Given the description of an element on the screen output the (x, y) to click on. 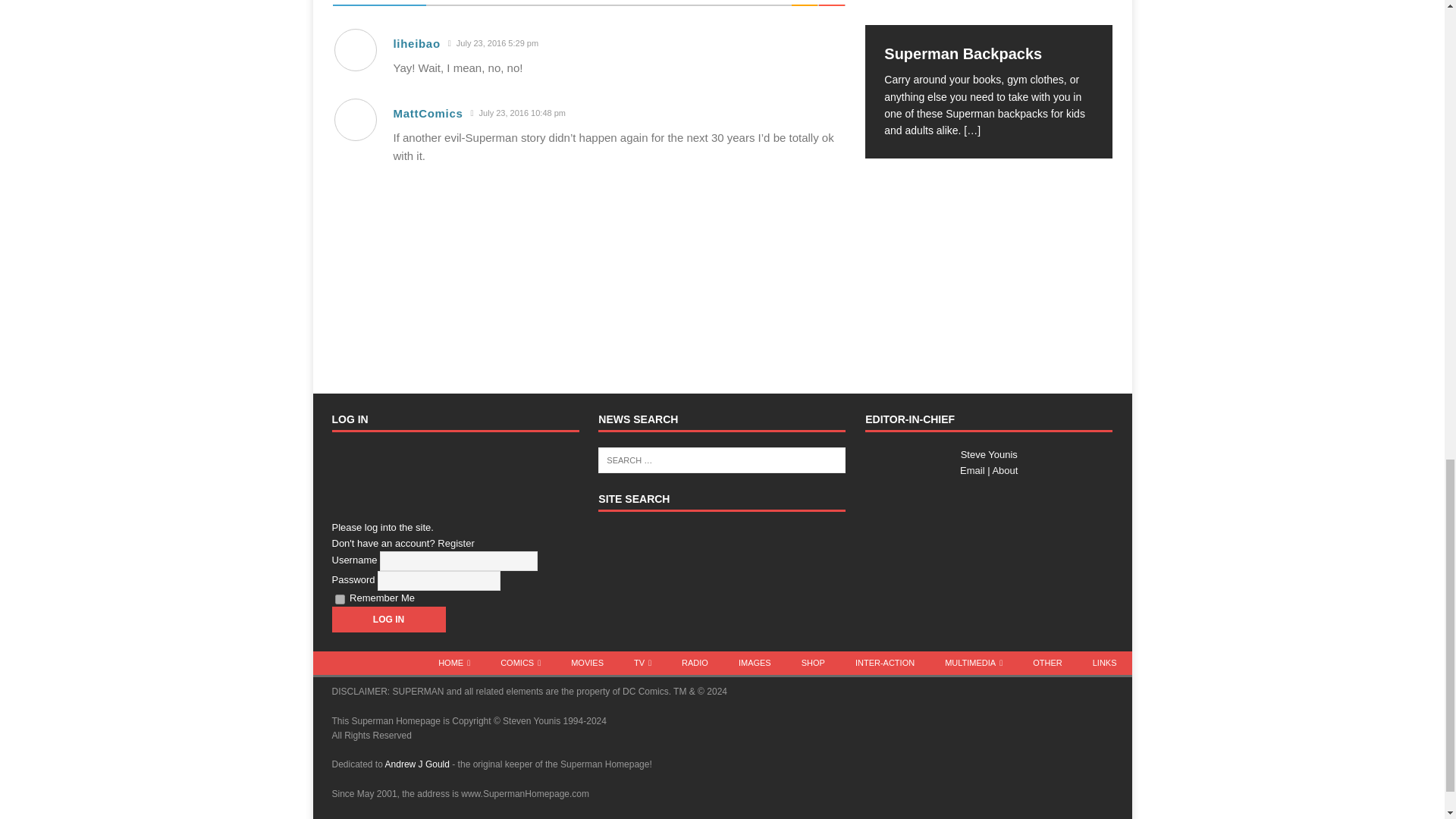
Superman Backpacks (988, 12)
July 23, 2016 5:29 pm (492, 43)
forever (339, 599)
July 23, 2016 10:48 pm (518, 113)
Log In (388, 619)
